Given the description of an element on the screen output the (x, y) to click on. 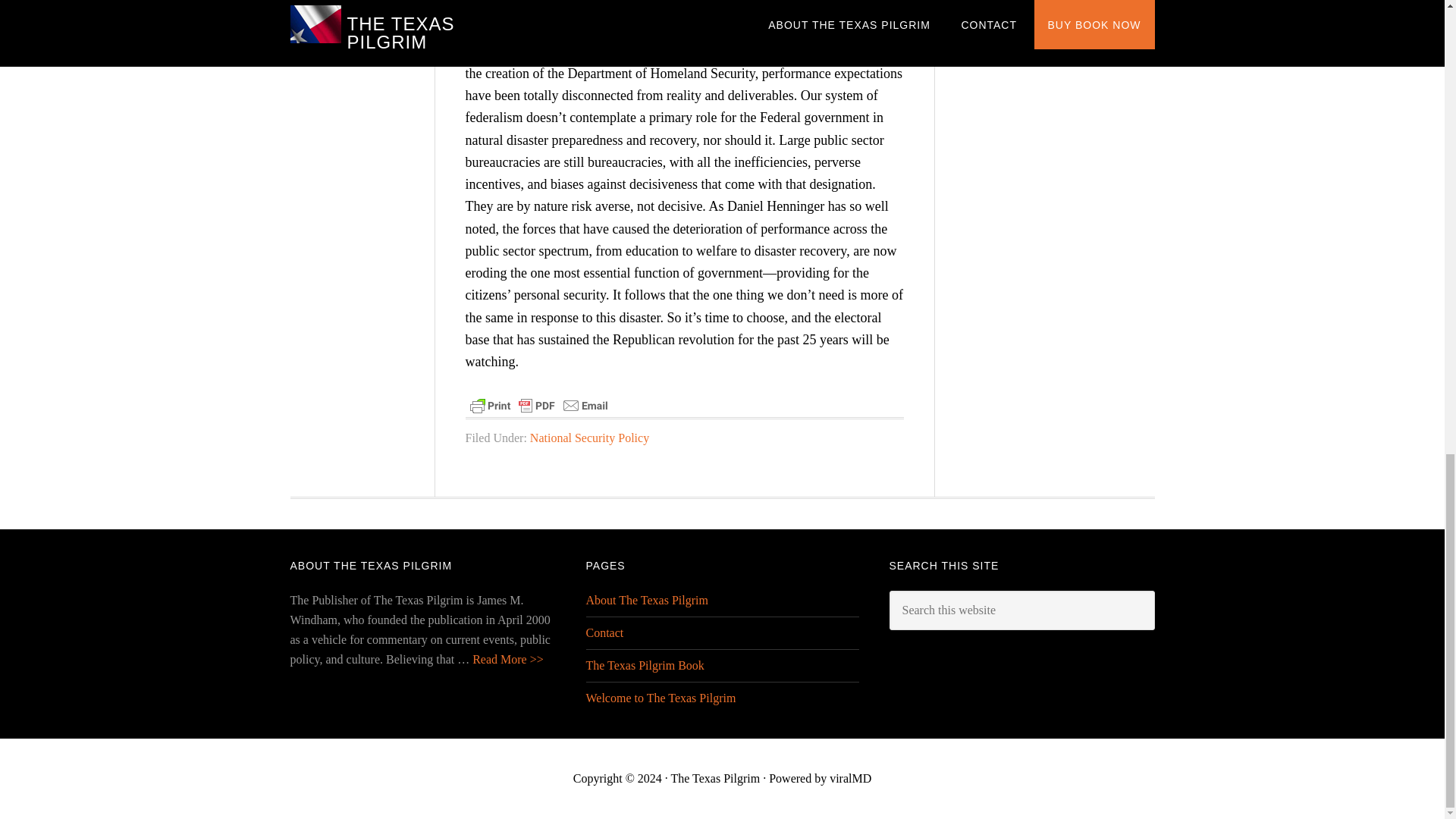
Contact (604, 632)
viralMD (849, 778)
About The Texas Pilgrim (646, 599)
The Texas Pilgrim Book (644, 665)
Welcome to The Texas Pilgrim (660, 697)
National Security Policy (589, 437)
